Given the description of an element on the screen output the (x, y) to click on. 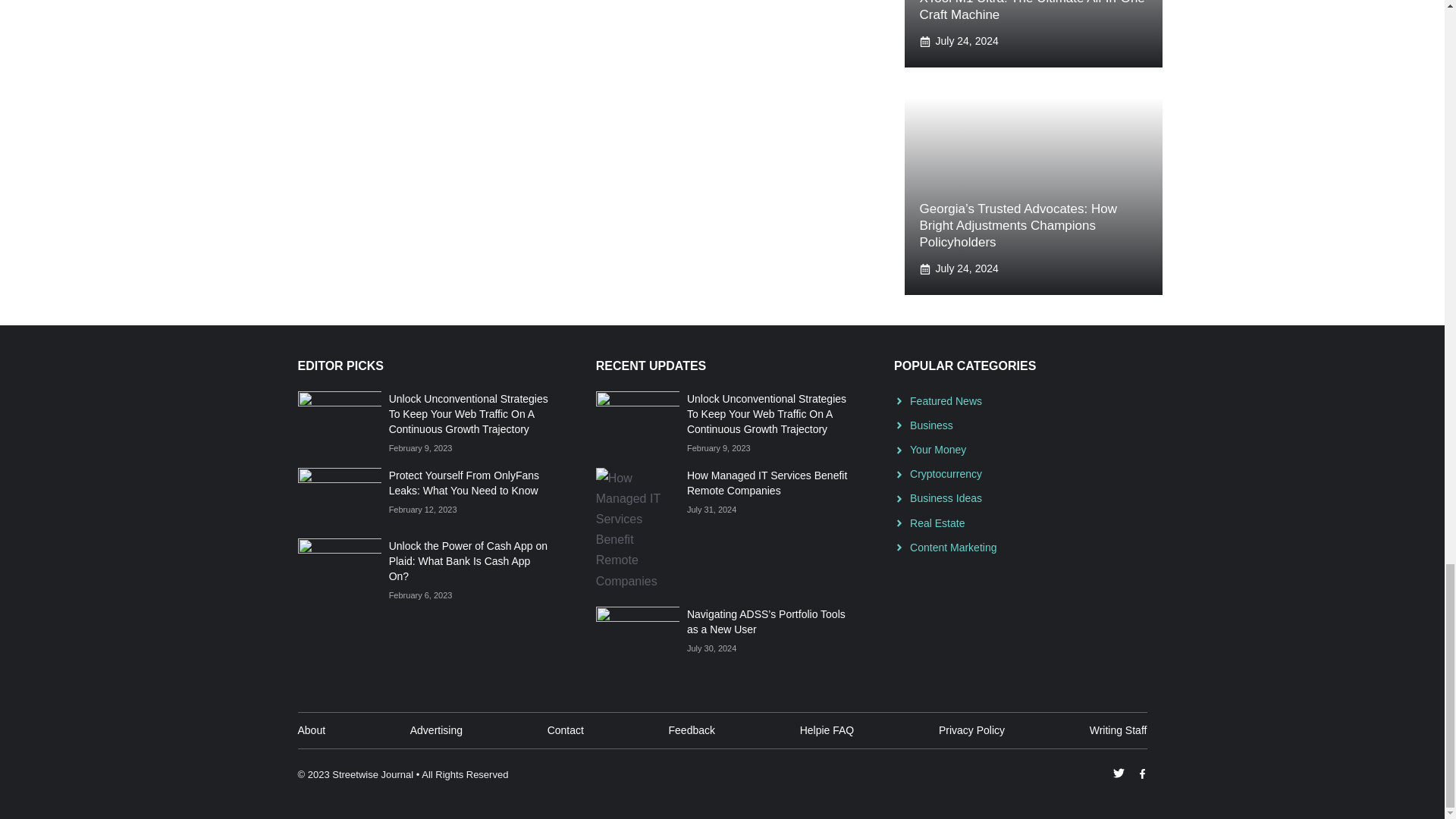
Business (931, 425)
How Managed IT Services Benefit Remote Companies (767, 482)
Protect Yourself From OnlyFans Leaks: What You Need to Know (463, 482)
Featured News (945, 400)
XTool M1 Ultra: The Ultimate All-In-One Craft Machine (1031, 11)
